Given the description of an element on the screen output the (x, y) to click on. 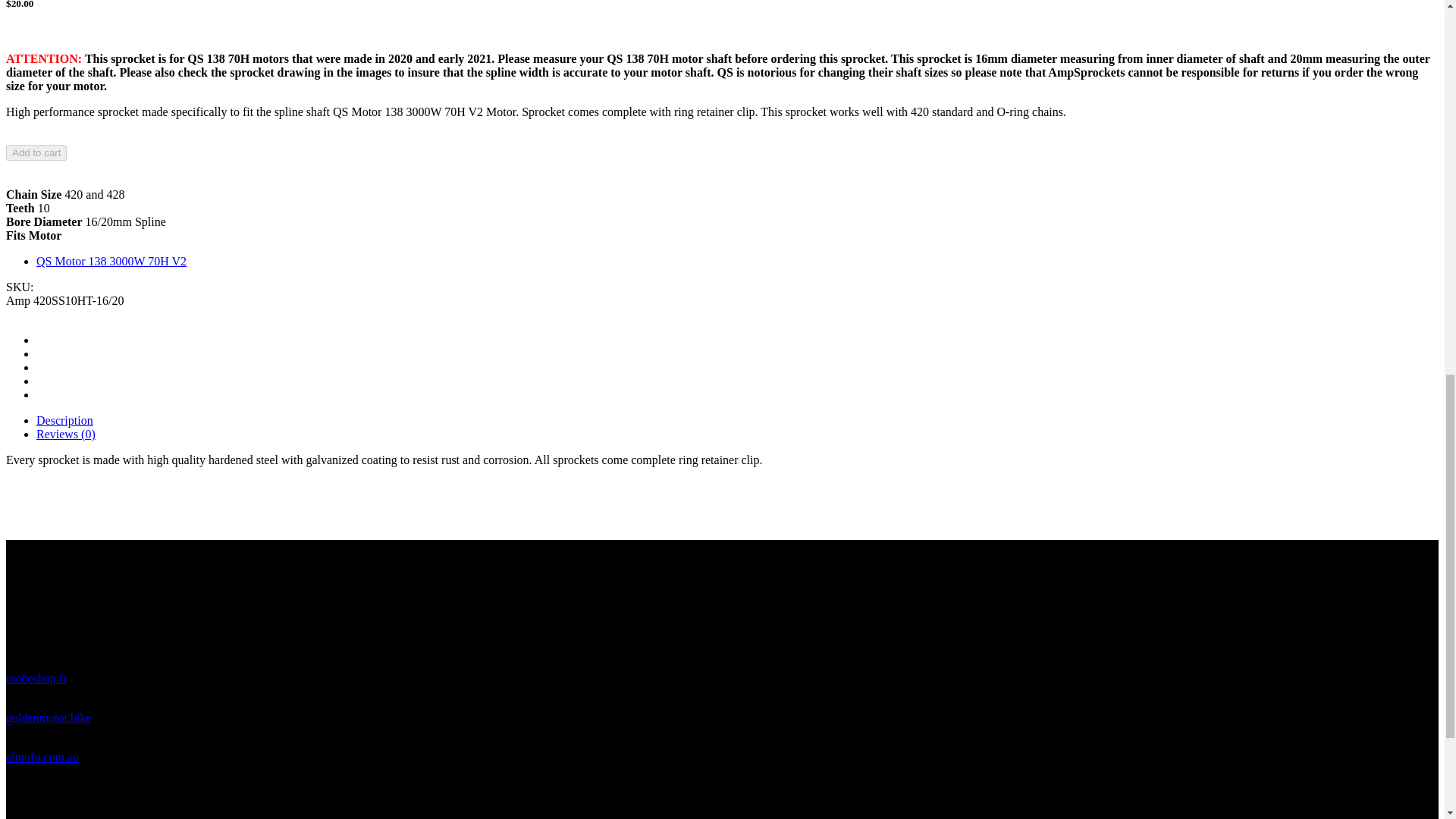
Description (64, 420)
Add to cart (35, 152)
mobeshop.fr (35, 677)
elmofo.com.au (41, 757)
goldenmotor.bike (47, 717)
QS Motor 138 3000W 70H V2 (111, 260)
Add to cart (35, 152)
